Given the description of an element on the screen output the (x, y) to click on. 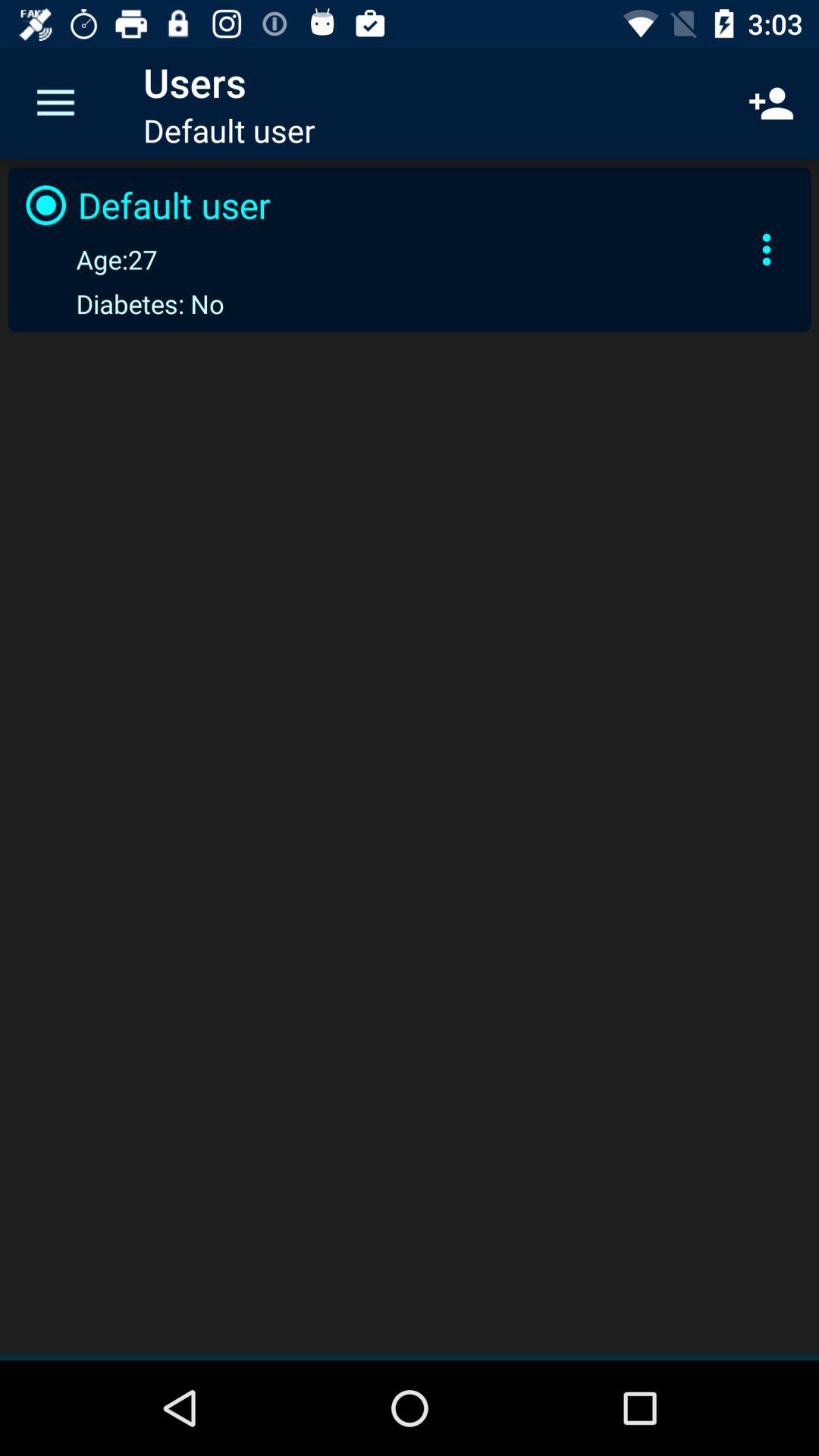
launch the icon to the right of the default user item (766, 249)
